Given the description of an element on the screen output the (x, y) to click on. 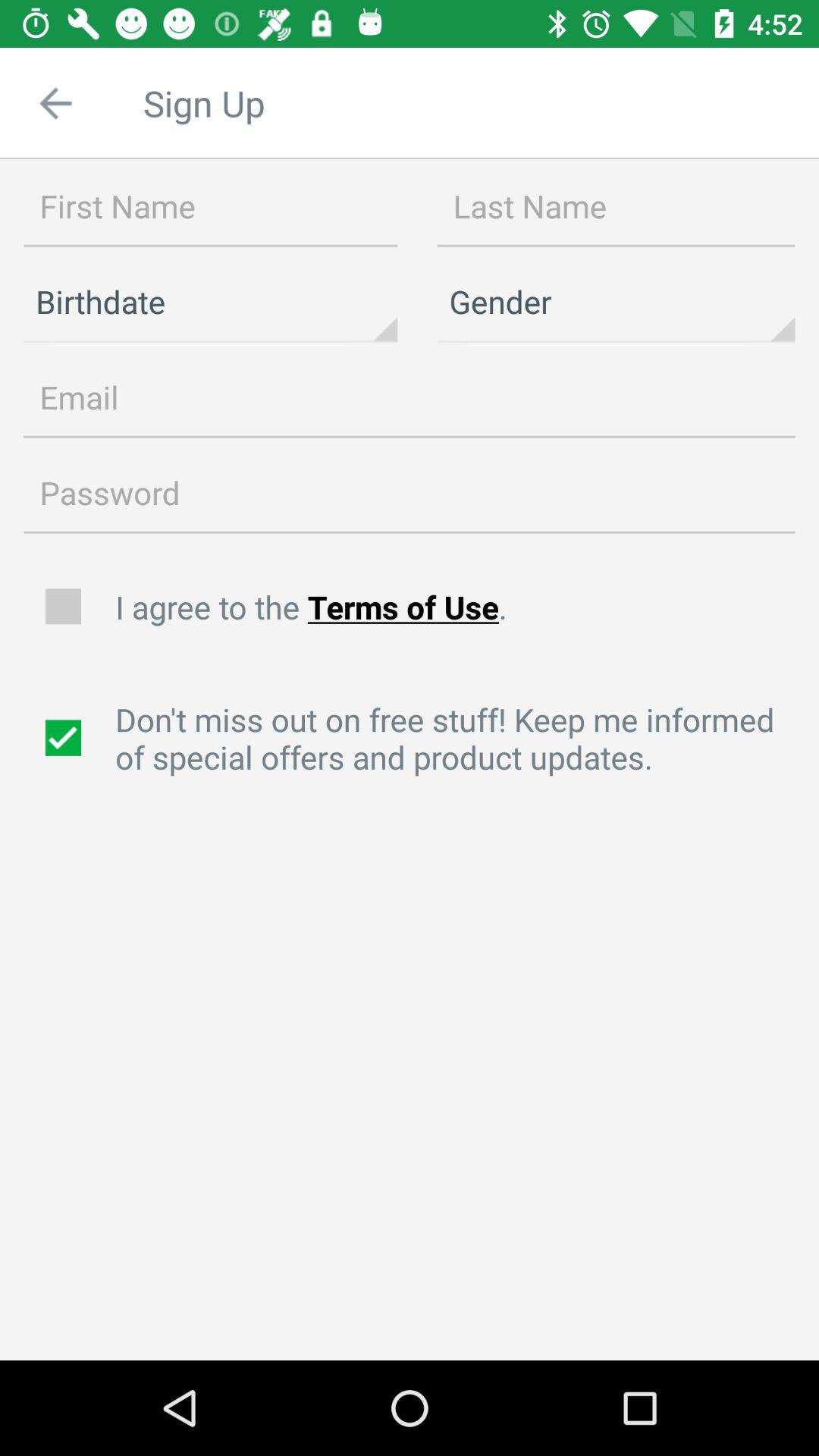
open the icon next to the don t miss (65, 738)
